Given the description of an element on the screen output the (x, y) to click on. 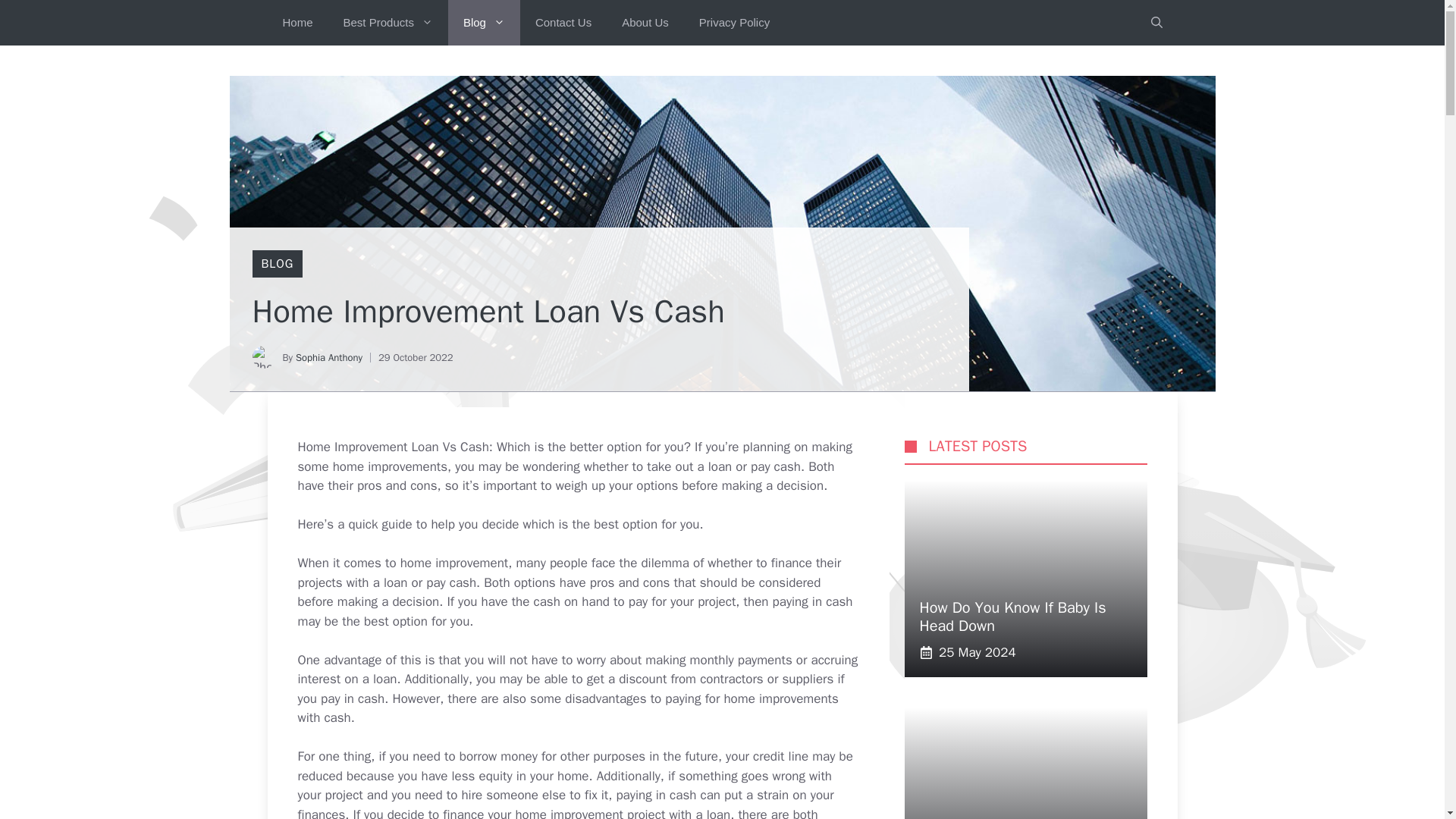
About Us (645, 22)
Contact Us (563, 22)
Blog (483, 22)
Sophia Anthony (328, 357)
Privacy Policy (734, 22)
BLOG (277, 263)
Best Products (388, 22)
Home (296, 22)
